Given the description of an element on the screen output the (x, y) to click on. 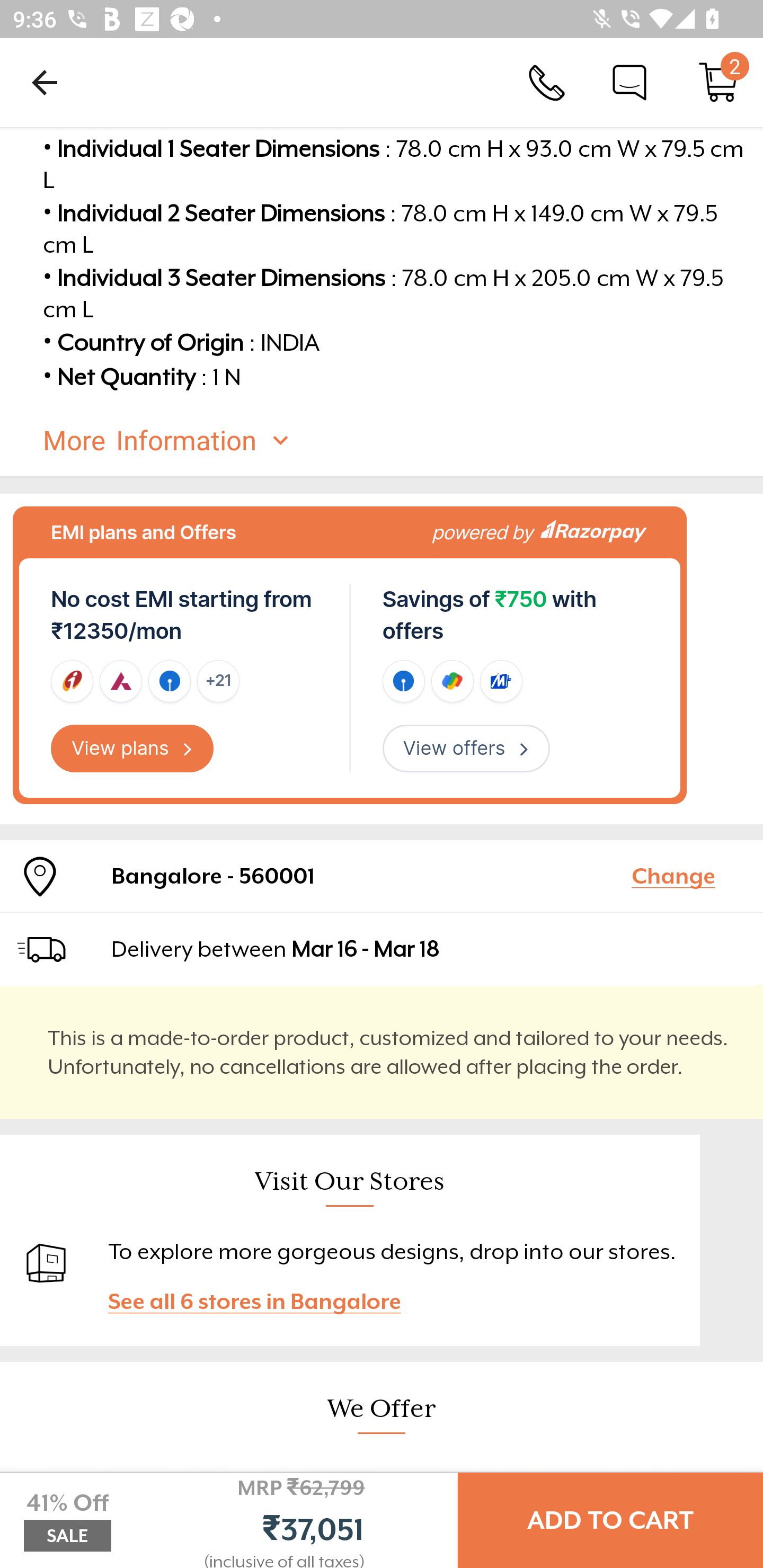
Navigate up (44, 82)
Call Us (546, 81)
Chat (629, 81)
Cart (718, 81)
More Information  (396, 440)
View plans (132, 748)
View offers (465, 748)
 Bangalore - 560001 Change (381, 875)
Delivery between Mar 16 - Mar 18 (428, 949)
See all 6 stores in Bangalore (262, 1300)
ADD TO CART (610, 1520)
